Given the description of an element on the screen output the (x, y) to click on. 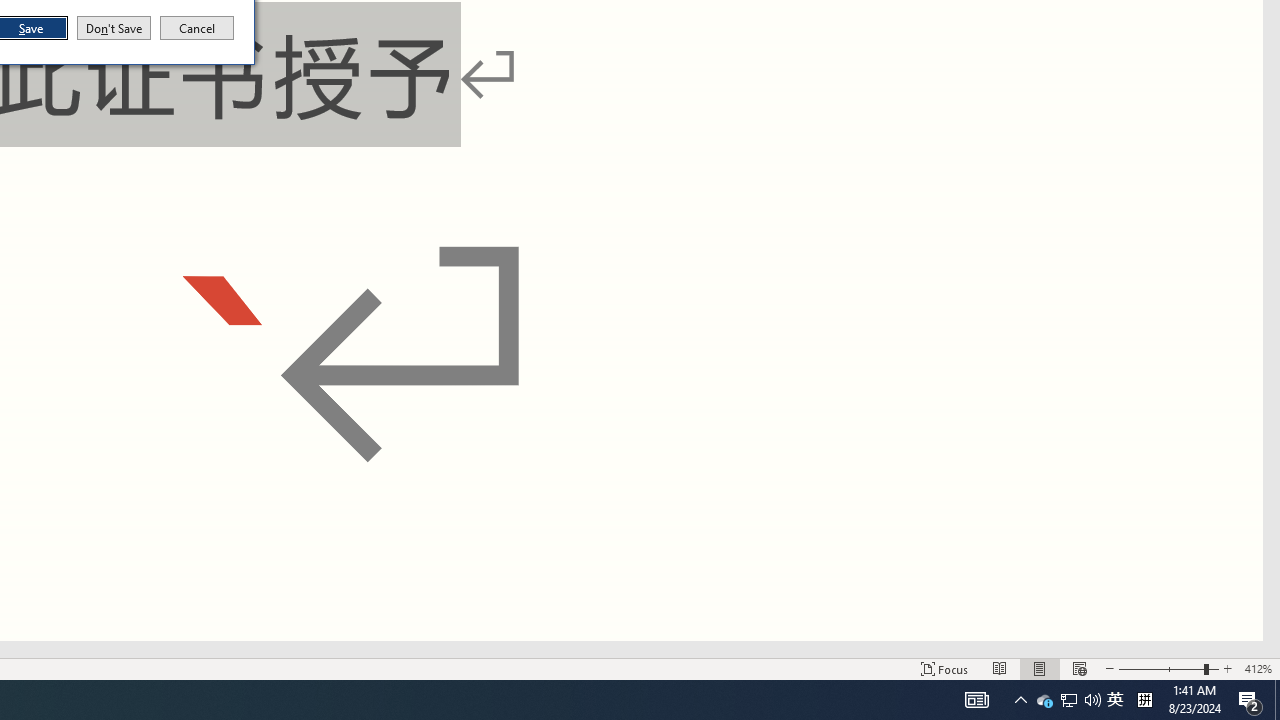
Action Center, 2 new notifications (1115, 699)
Zoom 412% (1250, 699)
Cancel (1258, 668)
Don't Save (1069, 699)
User Promoted Notification Area (197, 27)
AutomationID: 4105 (113, 27)
